Given the description of an element on the screen output the (x, y) to click on. 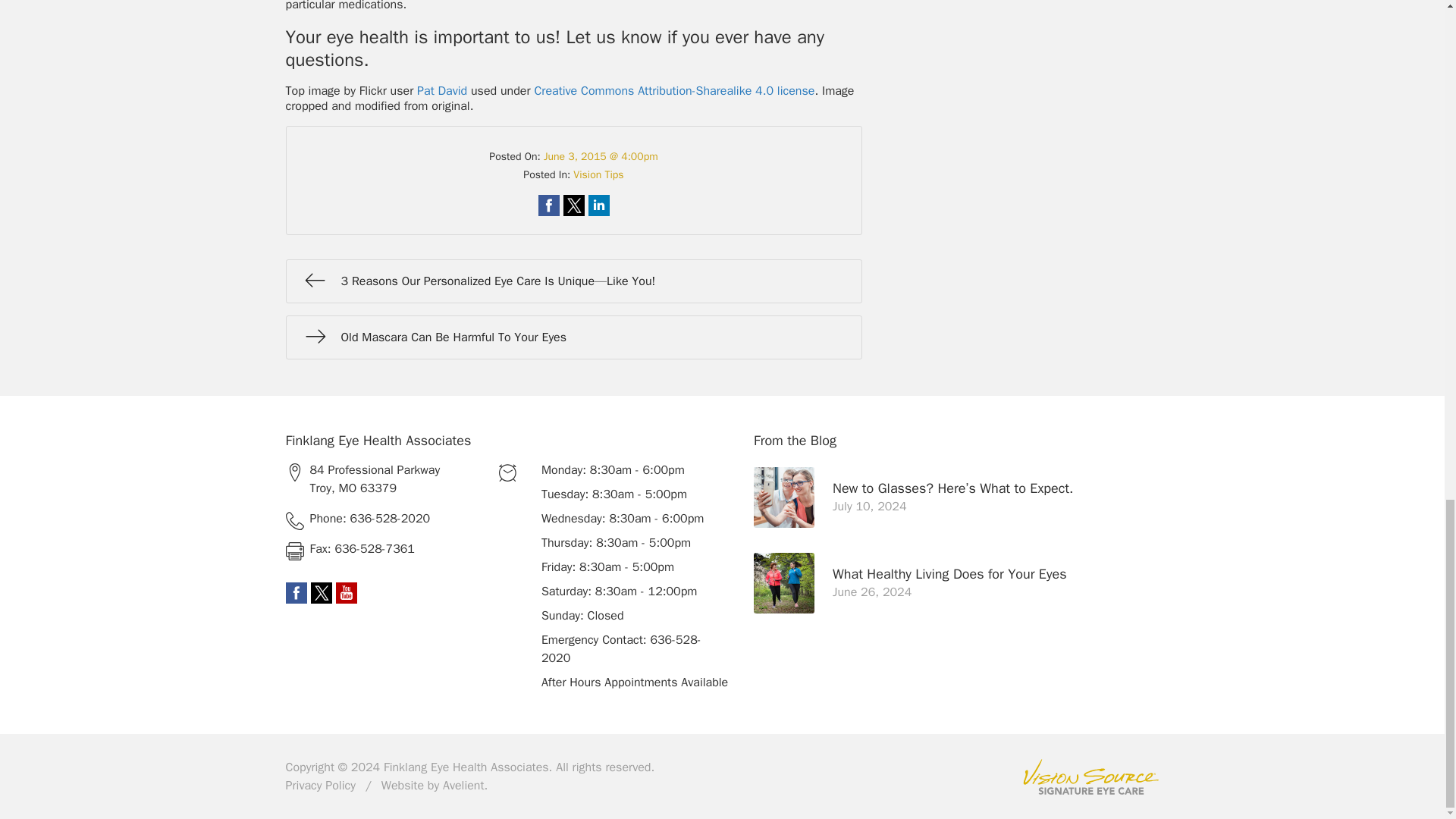
Old Mascara Can Be Harmful To Your Eyes (573, 337)
Open this Address on Google Maps (385, 479)
Creative Commons Attribution-Sharealike 4.0 license (673, 90)
Share on Twitter (572, 205)
Go to our Twitter Account (321, 592)
Share on Facebook (548, 205)
Go to our Facebook Page (295, 592)
Call practice (385, 518)
Share on LinkedIn (599, 205)
Share on Facebook (548, 205)
Vision Tips (598, 174)
Share on LinkedIn (599, 205)
Pat David (441, 90)
Share on Twitter (572, 205)
